Given the description of an element on the screen output the (x, y) to click on. 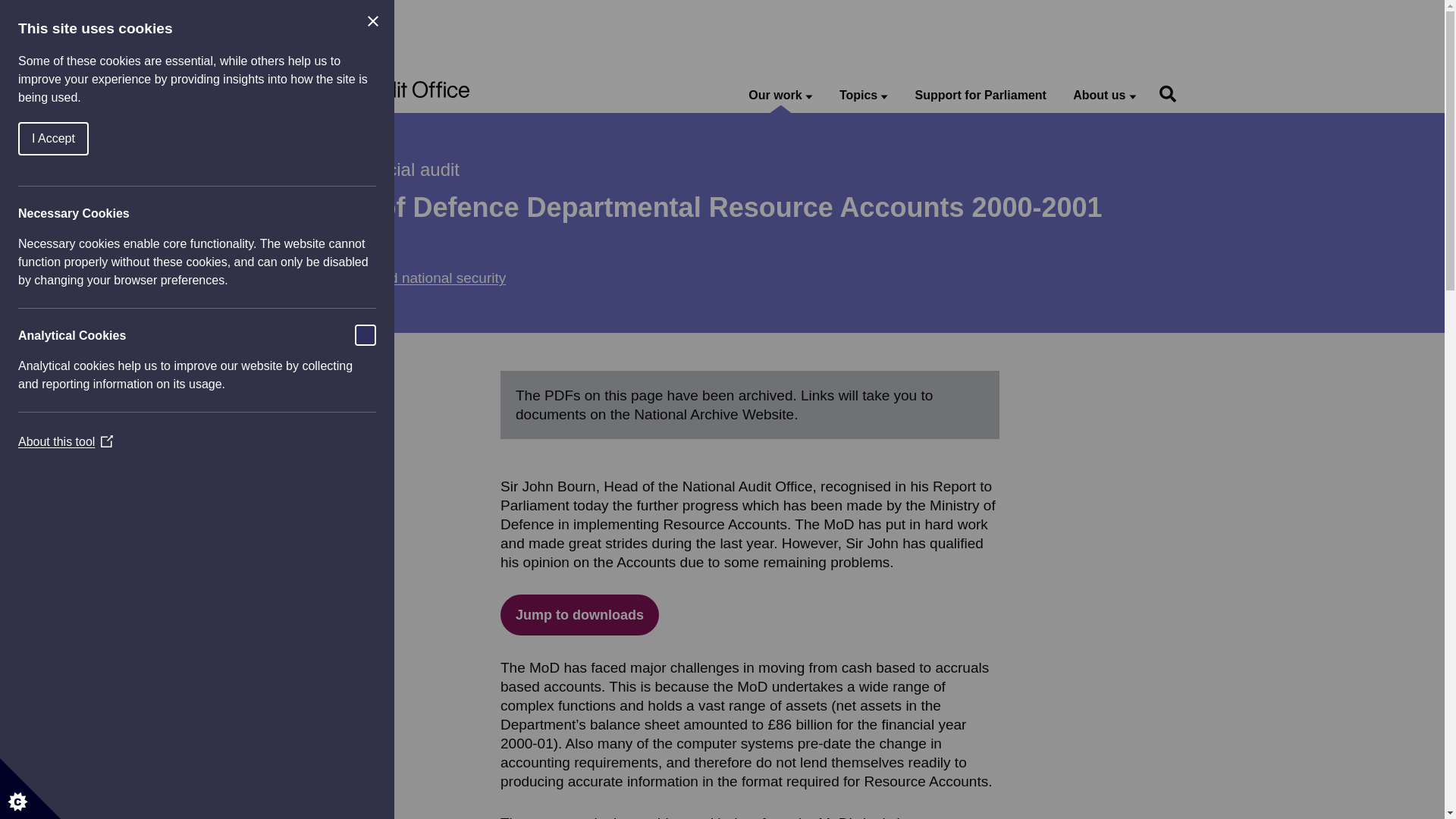
Skip to main content (11, 7)
Support for Parliament (980, 95)
Topics (864, 95)
Our work (780, 95)
